Given the description of an element on the screen output the (x, y) to click on. 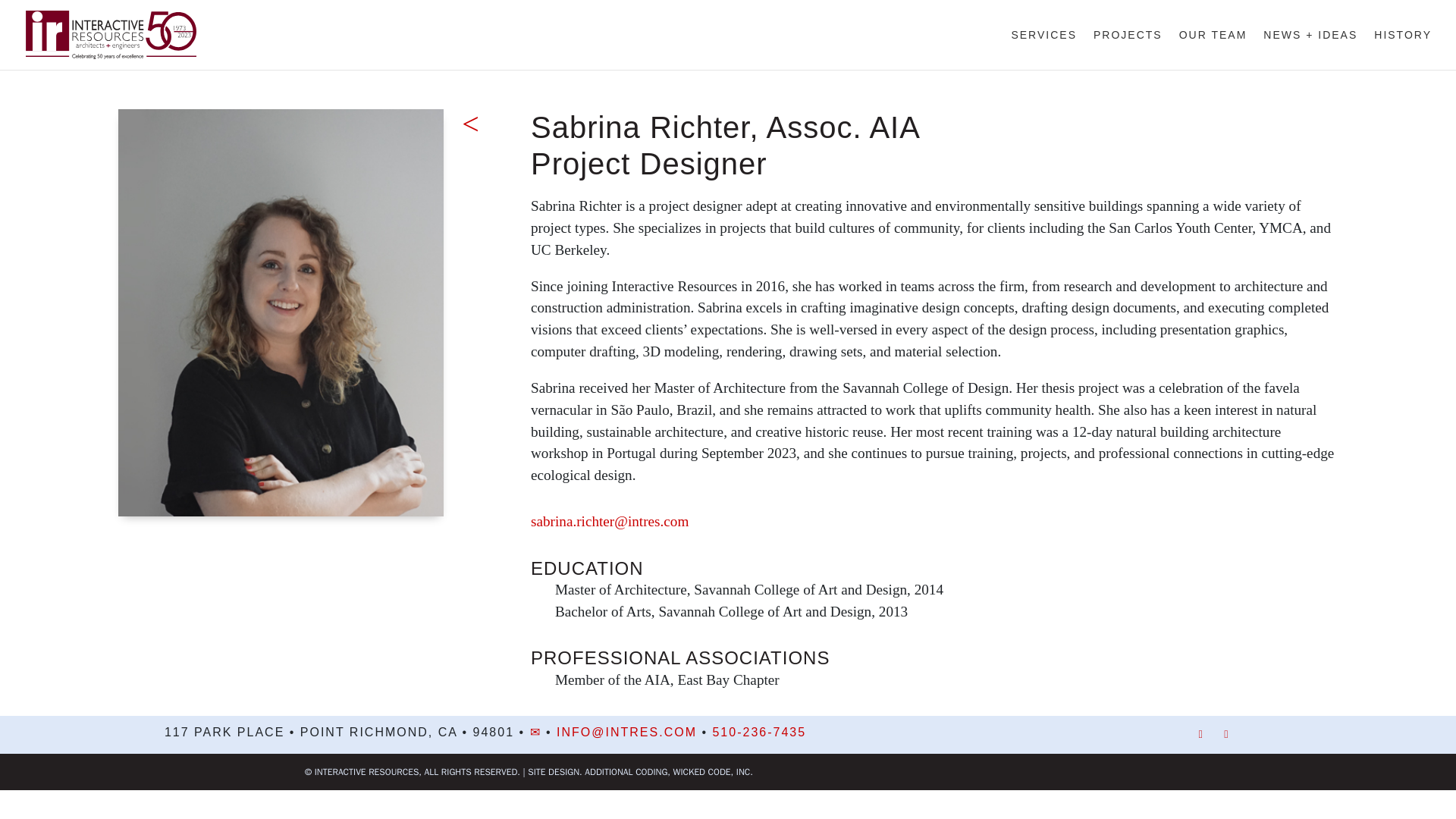
PROJECTS (1127, 49)
HISTORY (1402, 49)
ADDITIONAL CODING, WICKED CODE, INC. (668, 775)
Follow on Facebook (1200, 734)
SERVICES (1043, 49)
OUR TEAM (1213, 49)
SITE DESIGN. (553, 775)
510-236-7435 (758, 731)
Follow on LinkedIn (1225, 734)
